Given the description of an element on the screen output the (x, y) to click on. 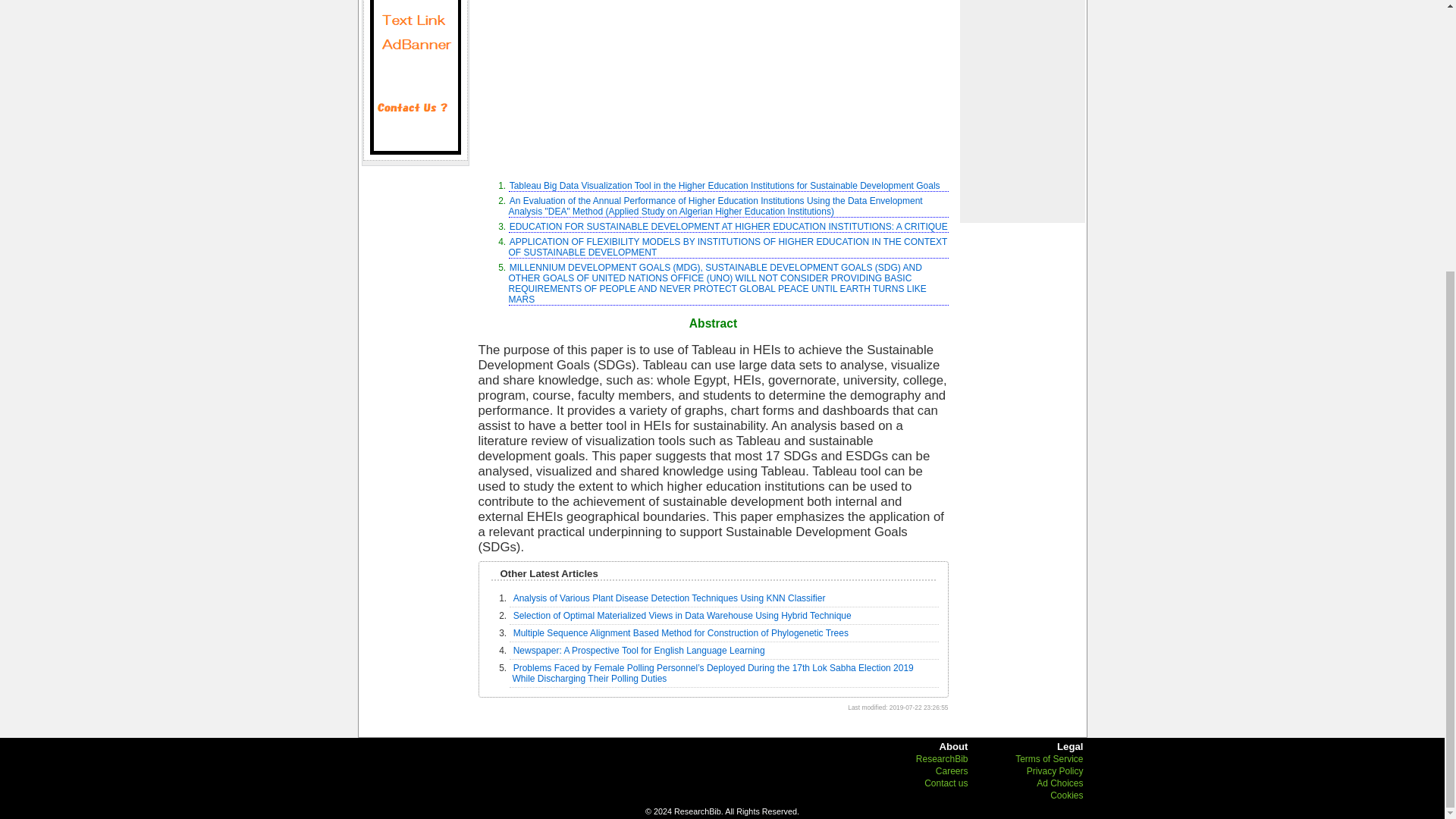
Newspaper: A Prospective Tool for English Language Learning (639, 650)
Advertisement (1021, 110)
Terms of Service (1048, 758)
Contact us (946, 783)
Ad Choices (1059, 783)
Contact us (415, 77)
ResearchBib (941, 758)
Advertisement (712, 83)
Cookies (1066, 795)
Privacy Policy (1054, 770)
